Given the description of an element on the screen output the (x, y) to click on. 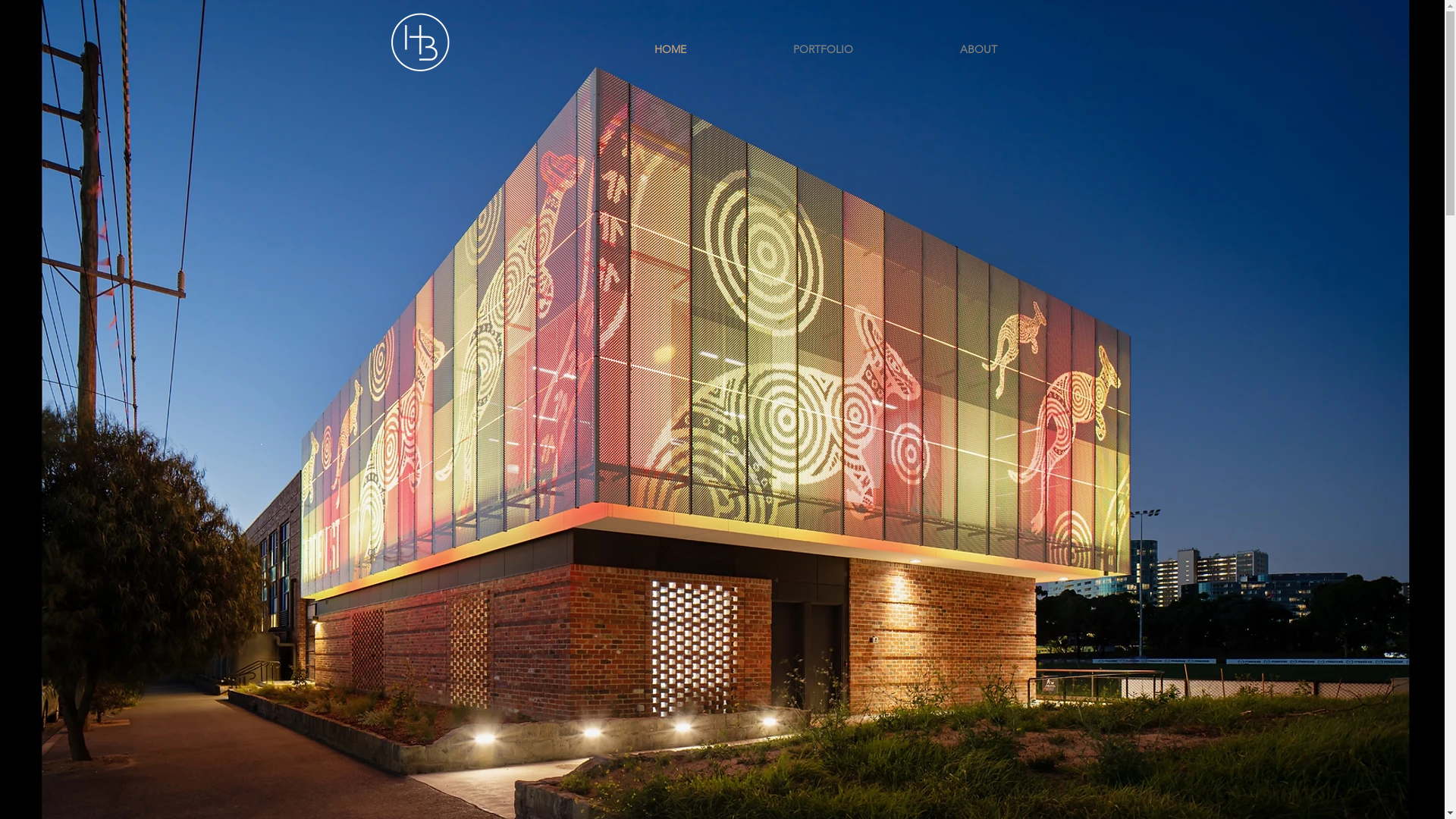
HOME Element type: text (669, 48)
ABOUT Element type: text (978, 48)
PORTFOLIO Element type: text (823, 48)
